Given the description of an element on the screen output the (x, y) to click on. 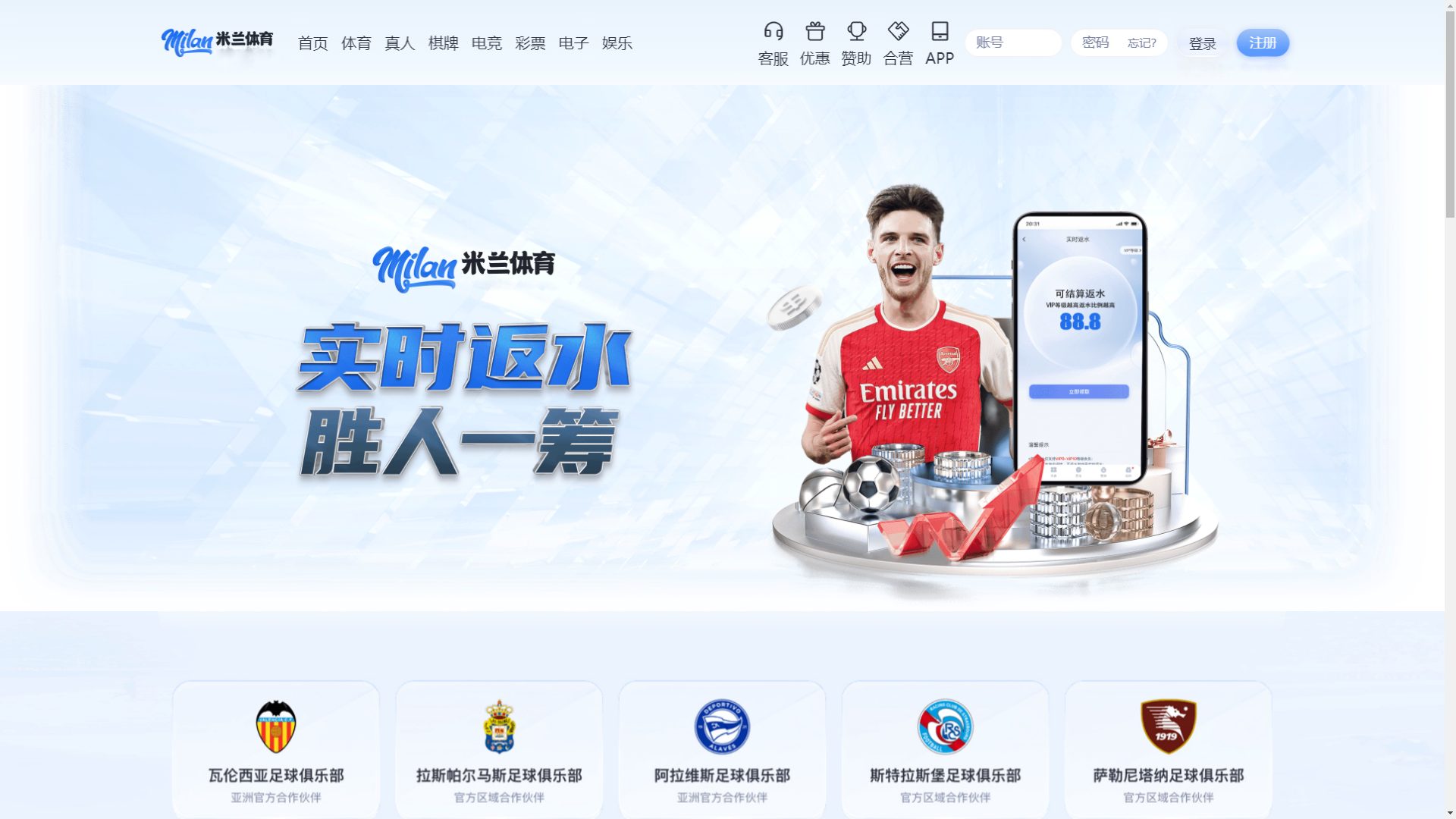
Solutions (352, 84)
Schedule Demo (1020, 30)
